Given the description of an element on the screen output the (x, y) to click on. 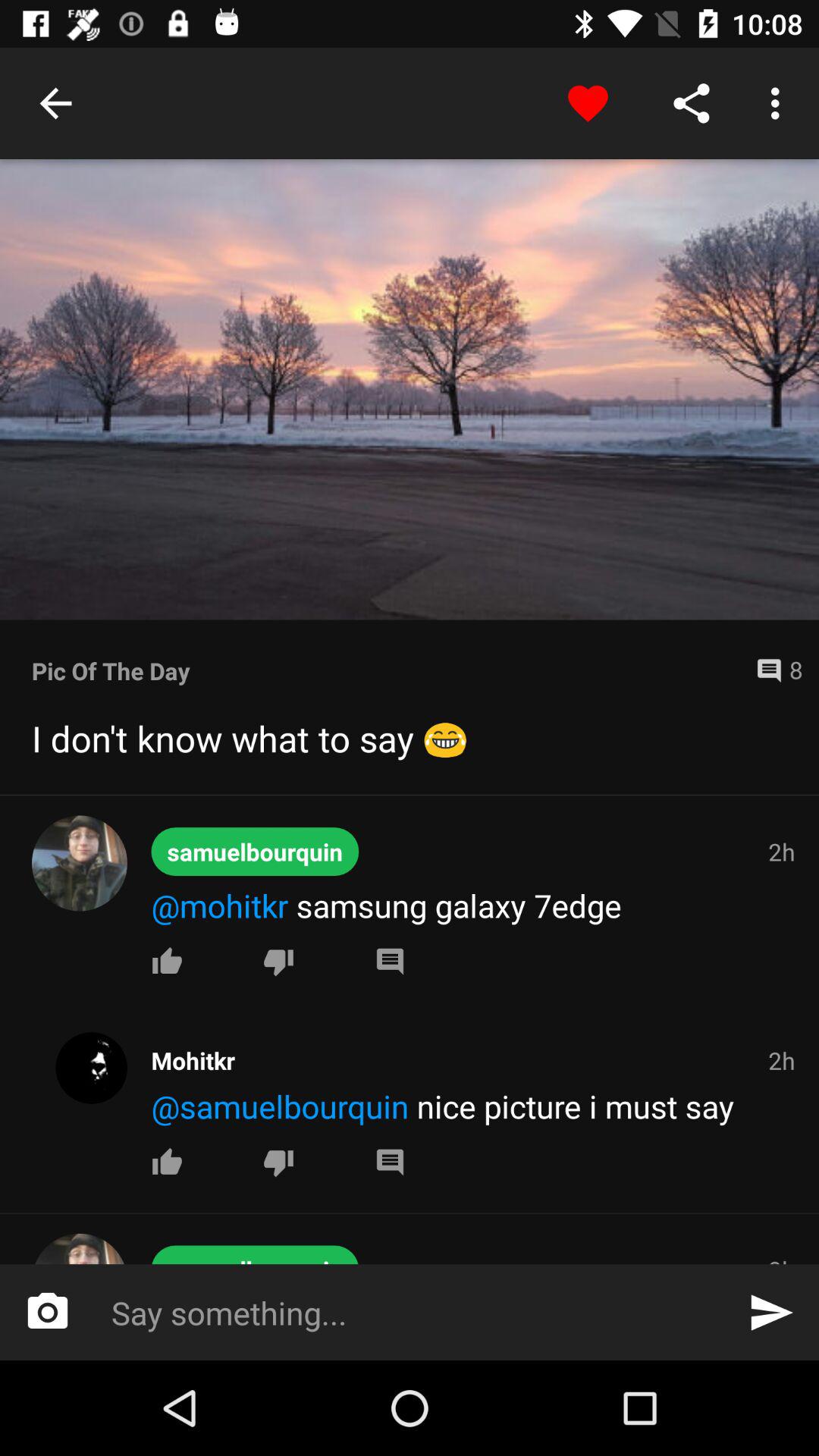
open item above the i don t item (773, 670)
